Given the description of an element on the screen output the (x, y) to click on. 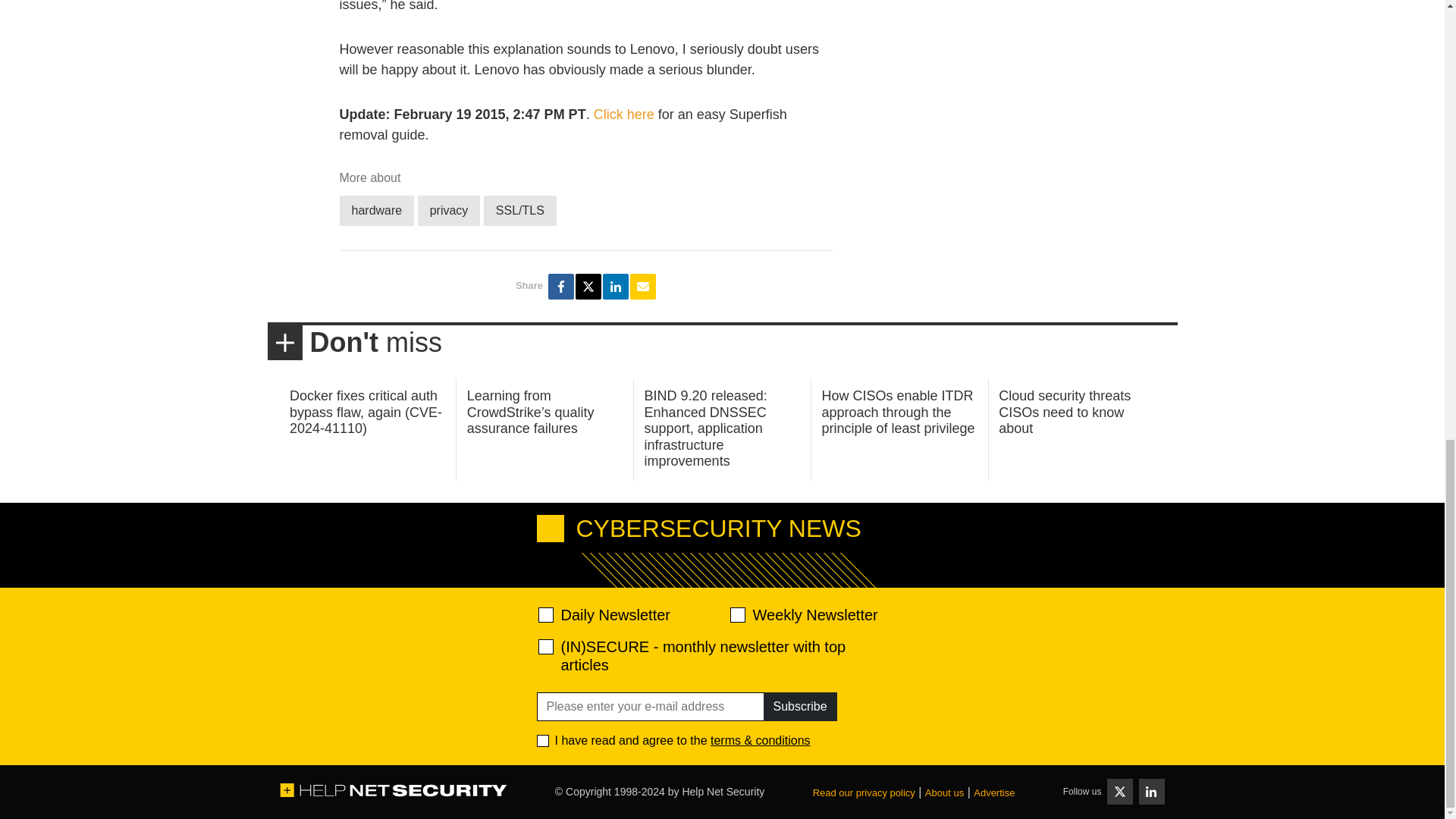
privacy (448, 210)
hardware (376, 210)
privacy (448, 210)
d2d471aafa (736, 614)
hardware (376, 210)
1 (542, 740)
Click here (623, 114)
520ac2f639 (545, 614)
28abe5d9ef (545, 646)
